Given the description of an element on the screen output the (x, y) to click on. 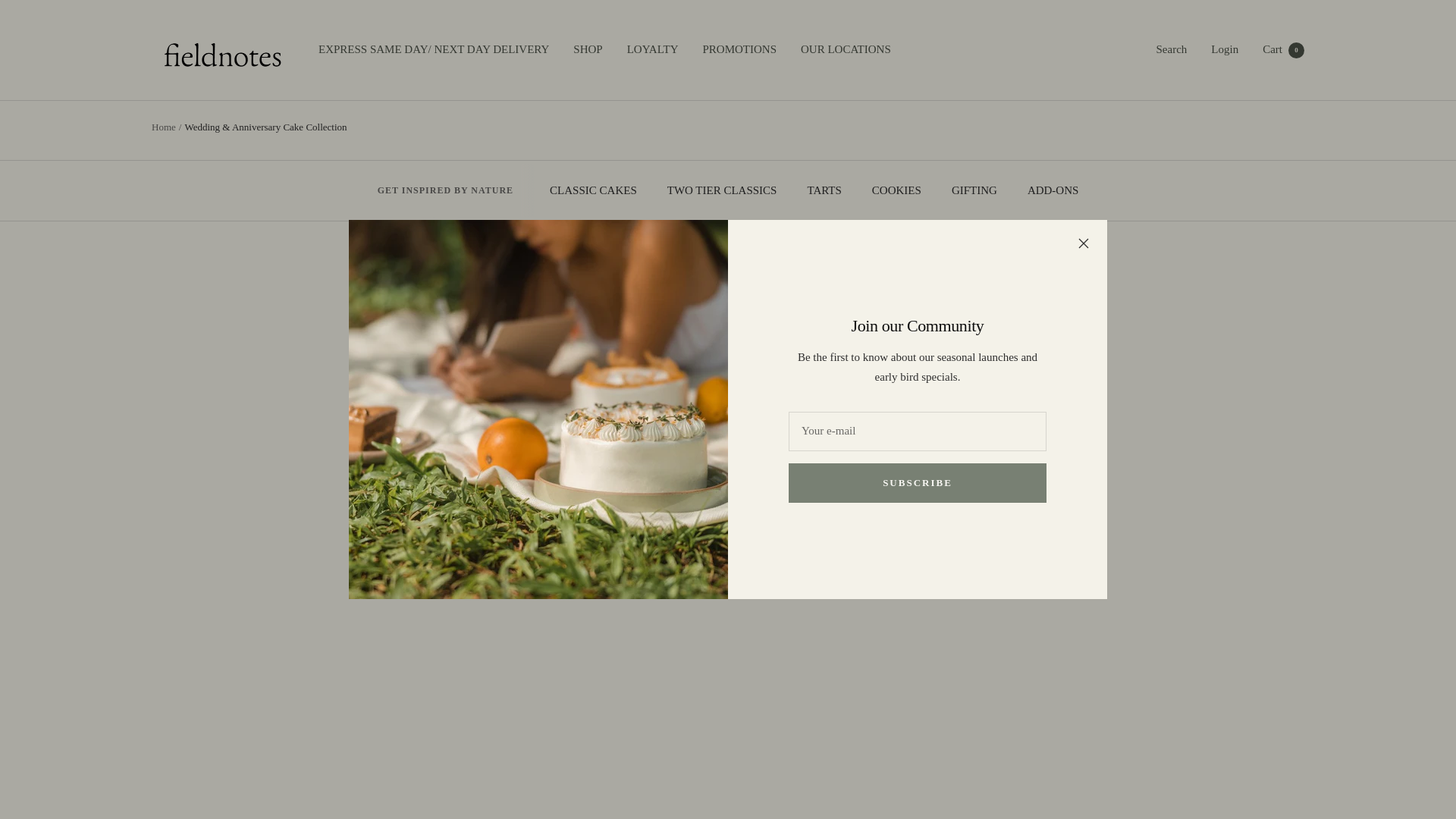
TWO TIER CLASSICS (721, 189)
Home (163, 126)
COOKIES (896, 189)
SUBSCRIBE (917, 482)
ADD-ONS (1052, 189)
LOYALTY (652, 49)
Fieldnotes Bakery Cake Shop Singapore (219, 49)
OUR LOCATIONS (845, 49)
Login (1225, 49)
GIFTING (974, 189)
PROMOTIONS (738, 49)
Close (1083, 243)
TARTS (823, 189)
RESET FILTERS (727, 527)
